Given the description of an element on the screen output the (x, y) to click on. 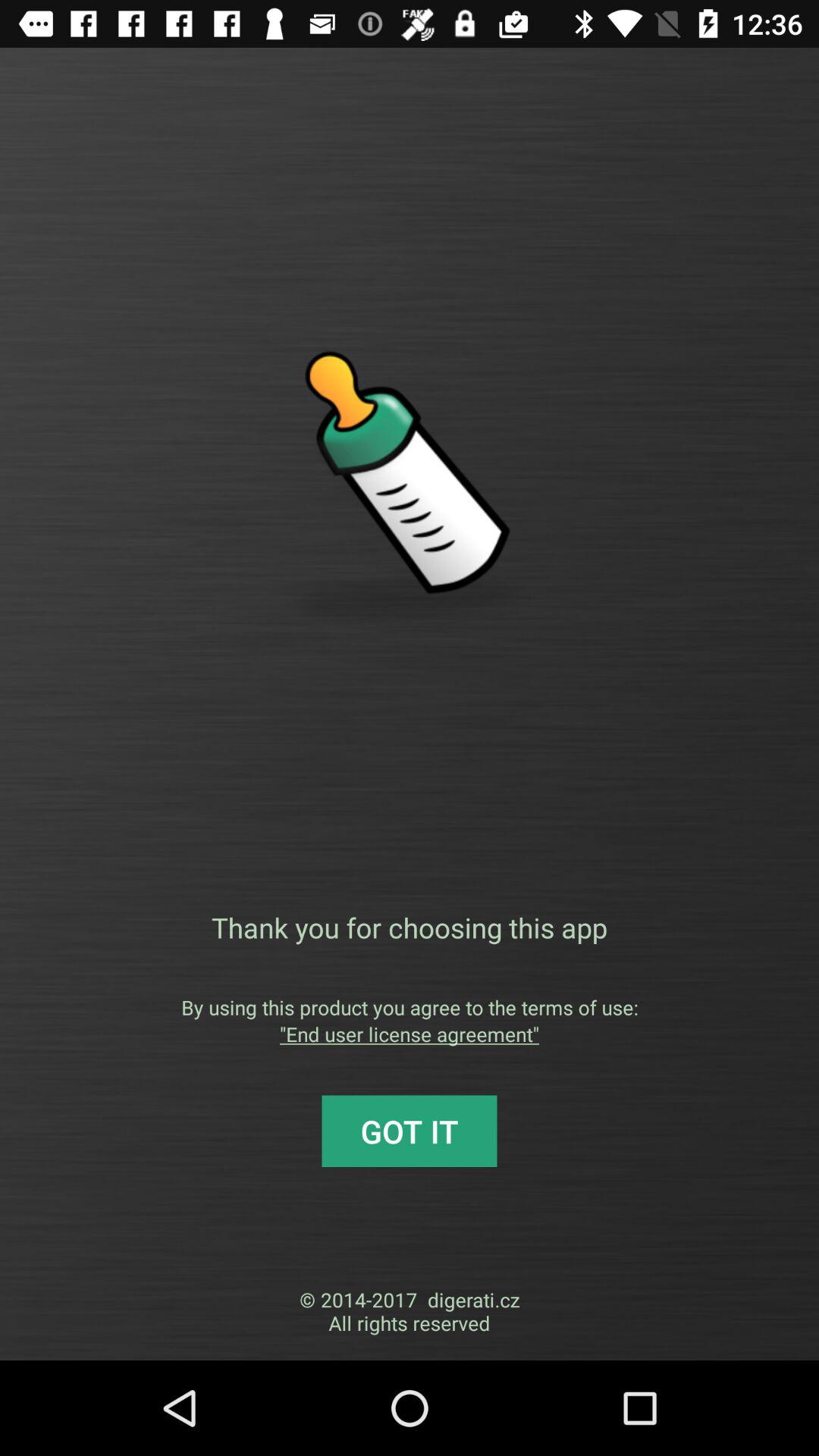
tap the end user license (409, 1033)
